Given the description of an element on the screen output the (x, y) to click on. 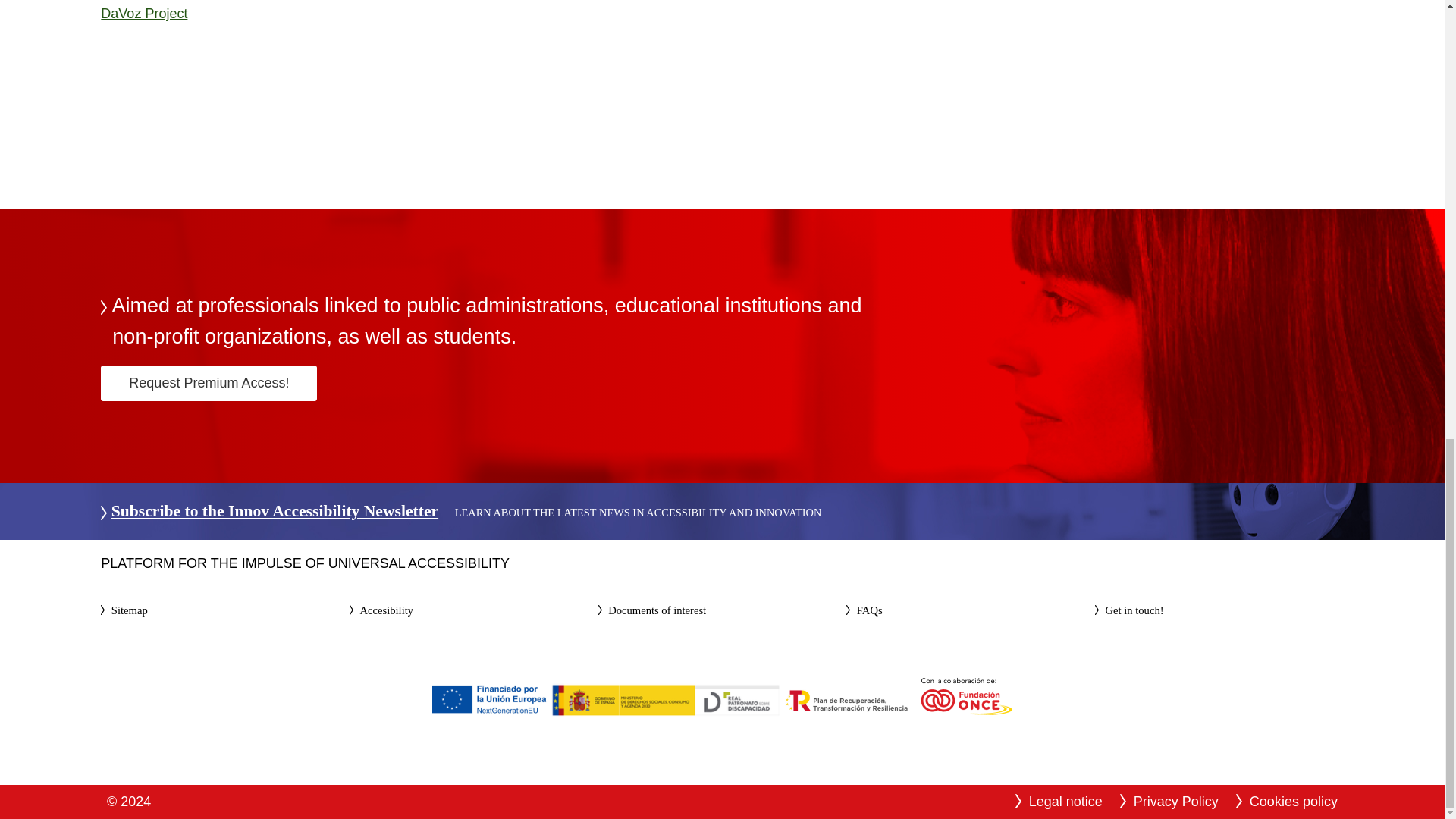
Get in touch! (1134, 610)
Request Premium Access! (208, 383)
DaVoz Project (143, 13)
Sitemap (130, 610)
Opens in a new window. (143, 13)
Accesibility (386, 610)
Subscribe to the Innov Accessibility Newsletter (275, 511)
FAQs (869, 610)
Privacy Policy (1176, 801)
Documents of interest (657, 610)
Legal notice (1065, 801)
Cookies policy (1293, 801)
